Given the description of an element on the screen output the (x, y) to click on. 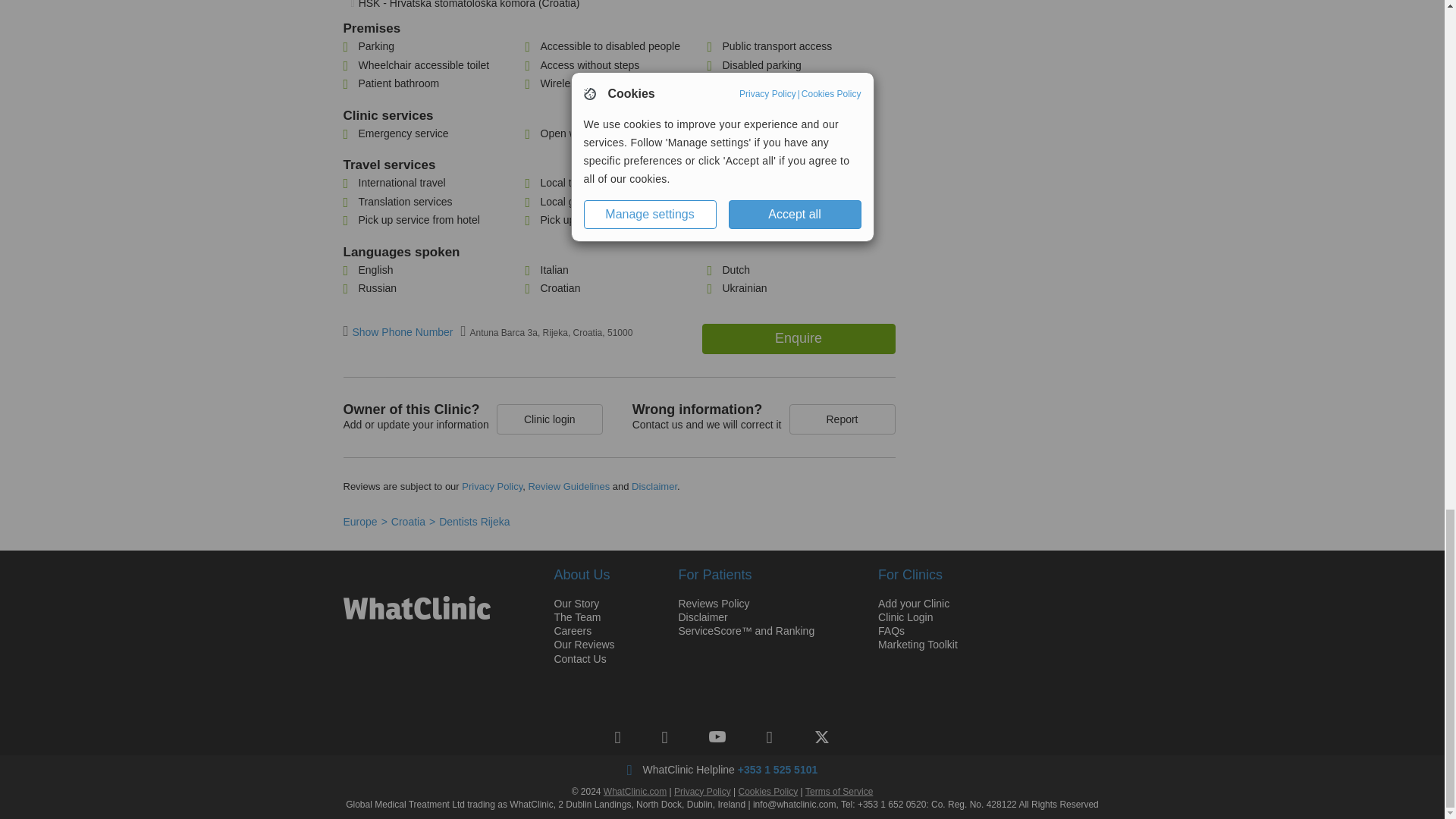
Enquire (798, 338)
